Given the description of an element on the screen output the (x, y) to click on. 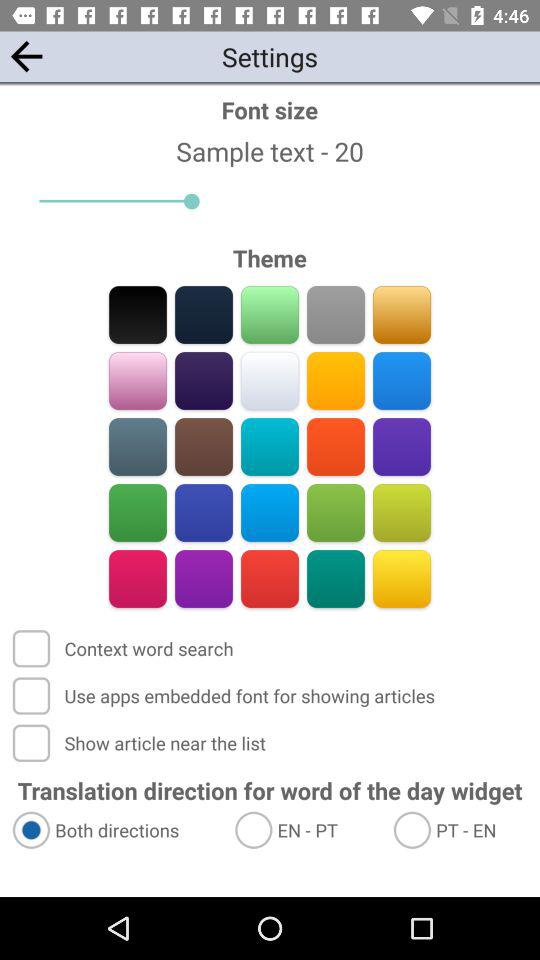
go to theme (137, 380)
